Given the description of an element on the screen output the (x, y) to click on. 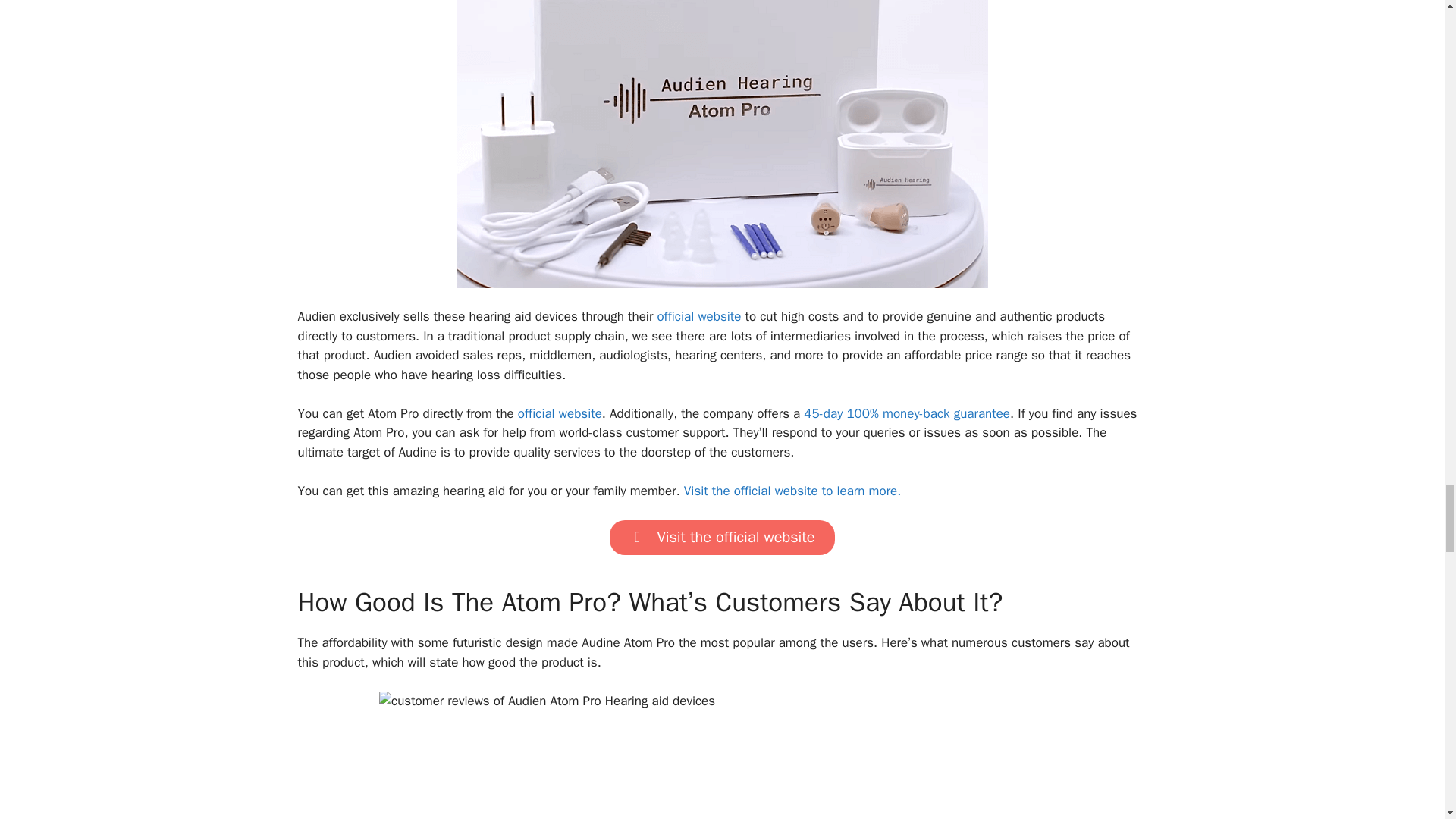
Visit the official website (722, 537)
official website (560, 413)
Visit the official website to learn more. (792, 490)
official website (698, 316)
